Given the description of an element on the screen output the (x, y) to click on. 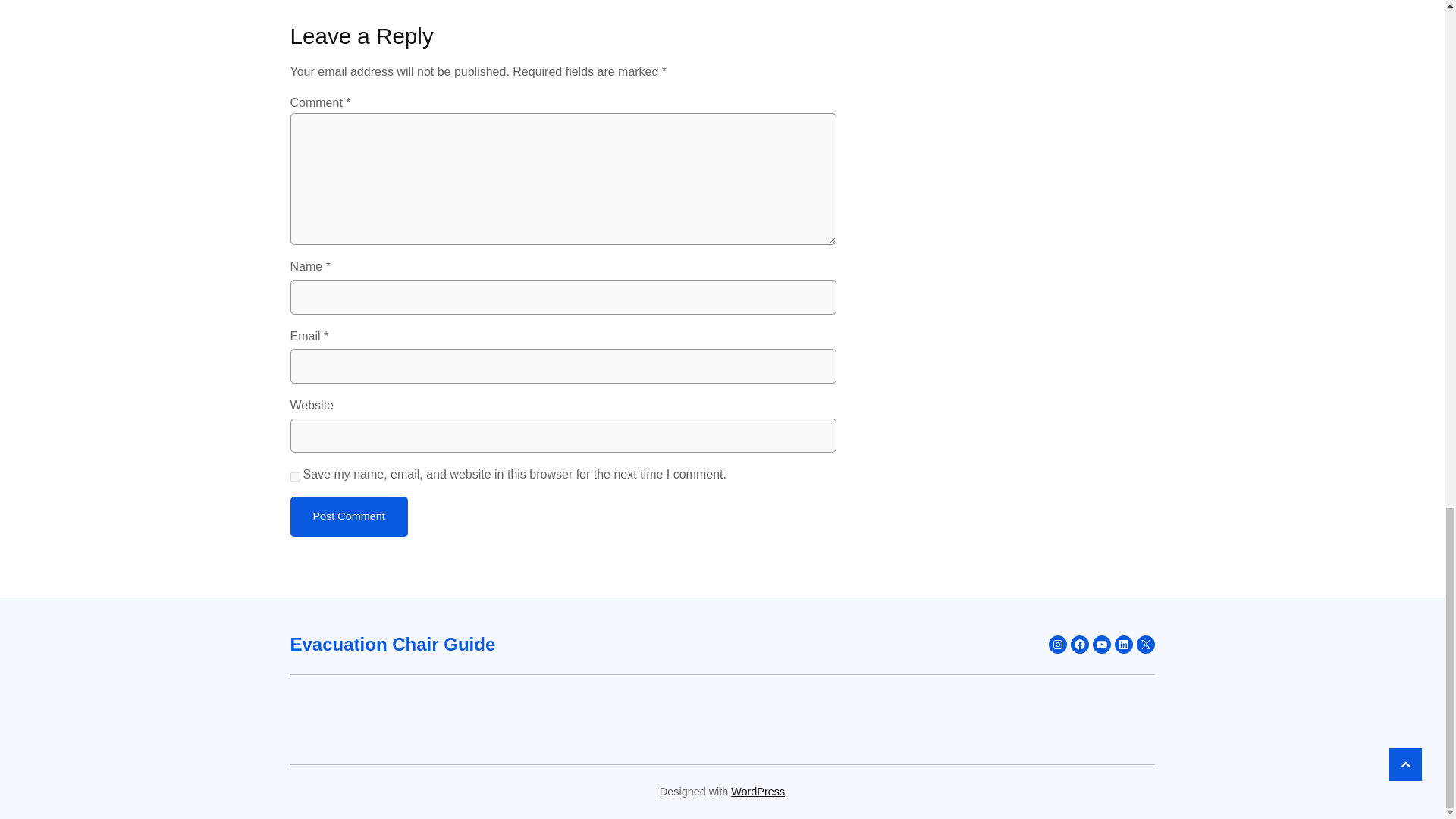
YouTube (1100, 644)
WordPress (757, 791)
Instagram (1056, 644)
Post Comment (348, 516)
Post Comment (348, 516)
LinkedIn (1123, 644)
X (1144, 644)
Facebook (1079, 644)
